Given the description of an element on the screen output the (x, y) to click on. 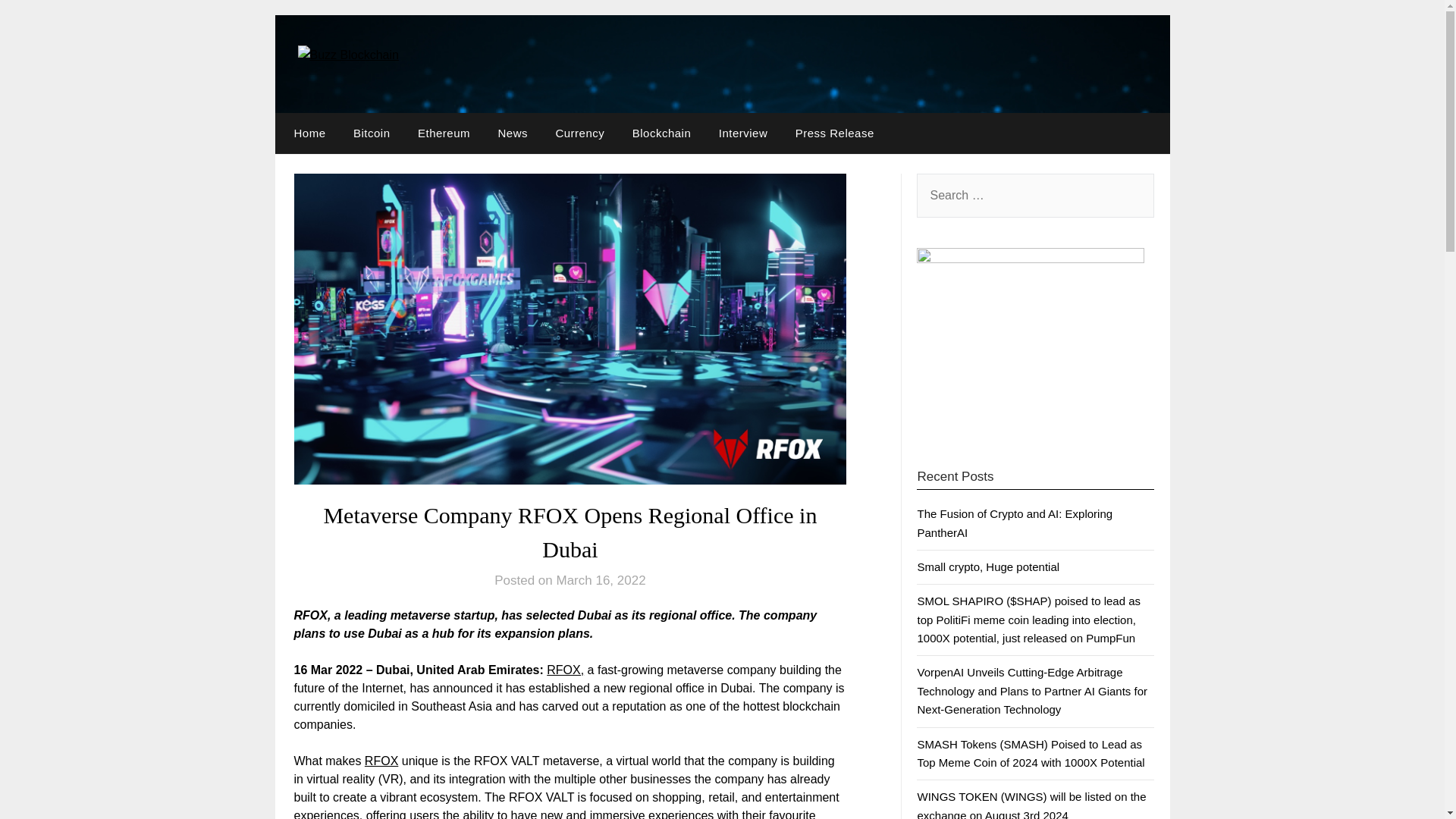
Small crypto, Huge potential (988, 566)
RFOX, (565, 669)
Bitcoin (371, 133)
Home (306, 133)
Currency (579, 133)
RFOX (381, 760)
Search (38, 22)
The Fusion of Crypto and AI: Exploring PantherAI (1014, 522)
Press Release (834, 133)
Blockchain (661, 133)
Ethereum (443, 133)
Interview (743, 133)
News (512, 133)
